Given the description of an element on the screen output the (x, y) to click on. 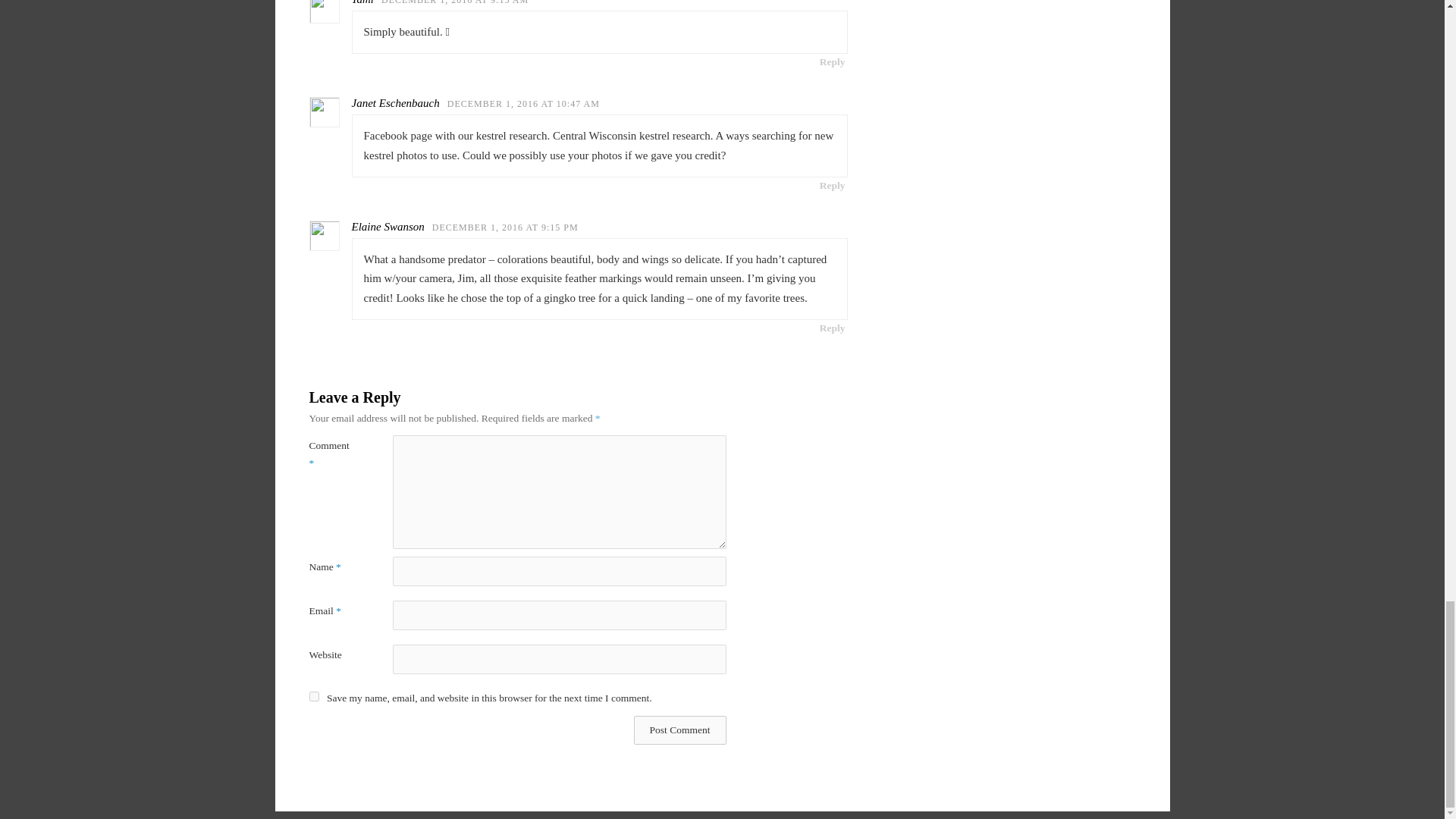
Reply (831, 327)
Reply (831, 184)
DECEMBER 1, 2016 AT 10:47 AM (522, 103)
DECEMBER 1, 2016 AT 9:15 PM (505, 226)
yes (313, 696)
Post Comment (679, 729)
DECEMBER 1, 2016 AT 9:15 AM (454, 2)
Reply (831, 61)
Post Comment (679, 729)
